Given the description of an element on the screen output the (x, y) to click on. 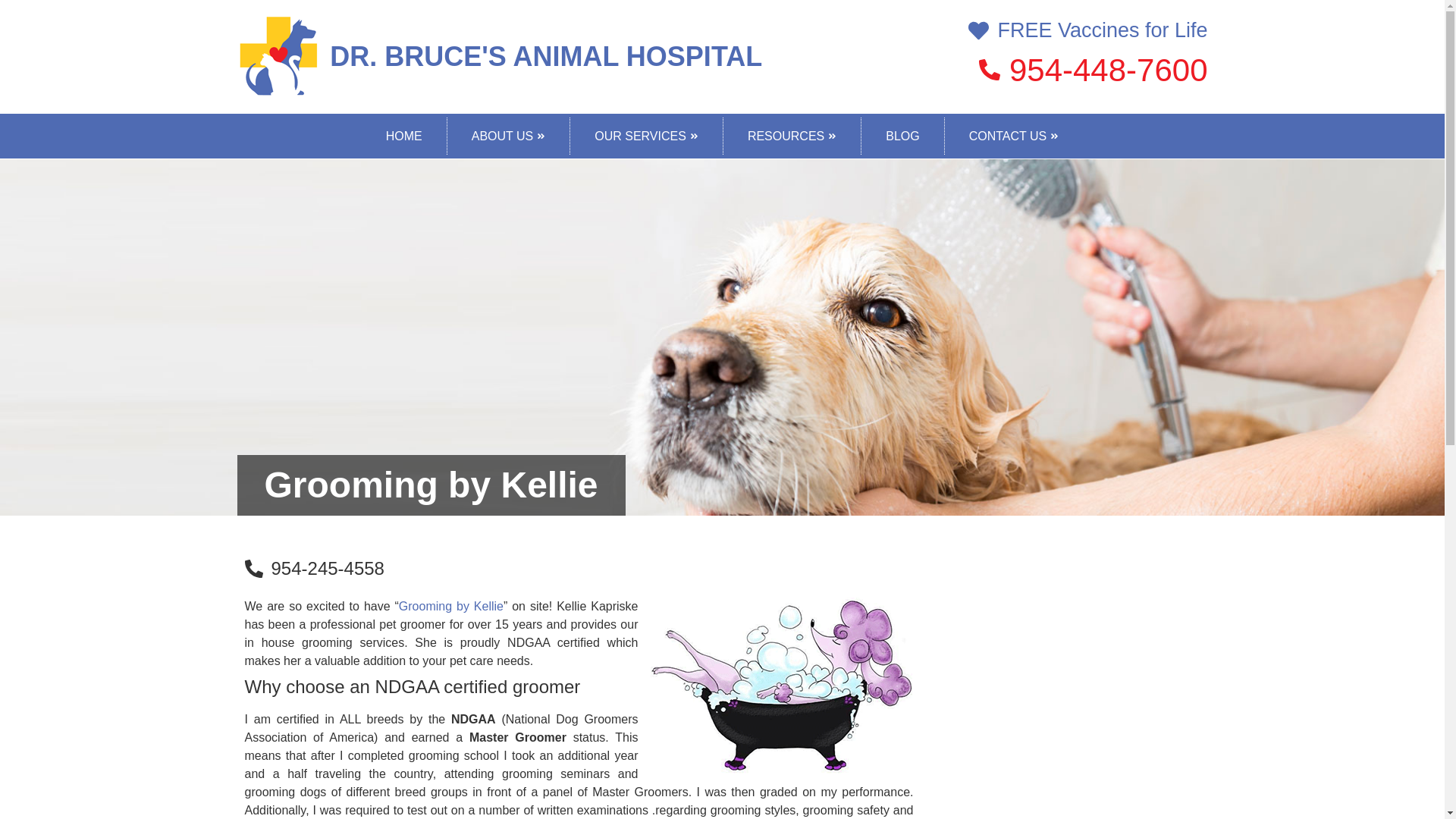
OUR SERVICES (646, 135)
RESOURCES (791, 135)
CONTACT US (1013, 135)
FREE Vaccines for Life (1057, 30)
954-448-7600 (1057, 69)
ABOUT US (508, 135)
HOME (403, 135)
DR. BRUCE'S ANIMAL HOSPITAL (545, 56)
BLOG (902, 135)
